Given the description of an element on the screen output the (x, y) to click on. 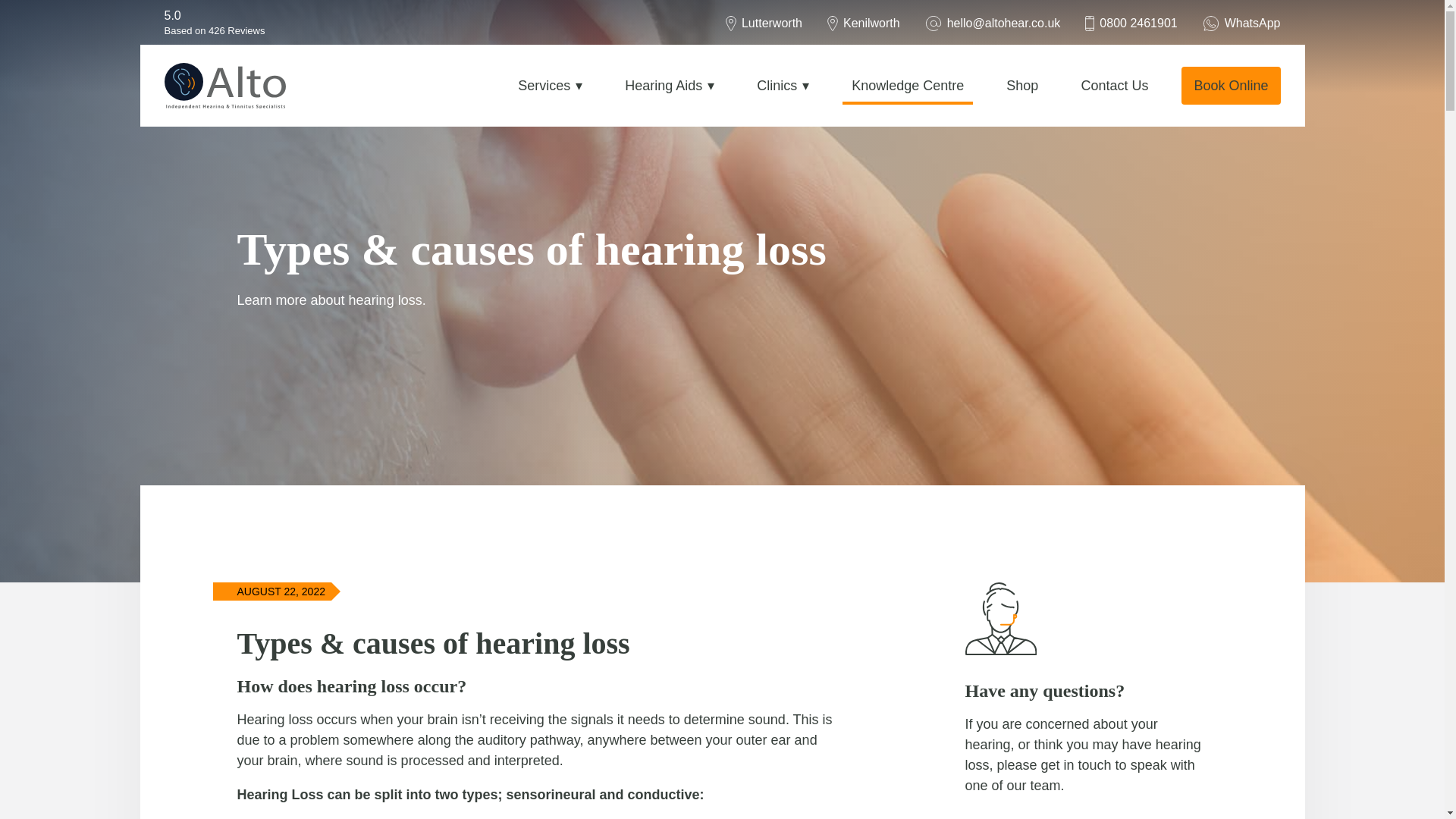
Contact Us (1114, 85)
Knowledge Centre (907, 85)
0800 2461901 (1130, 22)
Clinics (783, 85)
Hearing Aids (669, 85)
Services (549, 85)
Kenilworth (863, 22)
Book Online (1229, 85)
Lutterworth (763, 22)
WhatsApp (1241, 22)
